Given the description of an element on the screen output the (x, y) to click on. 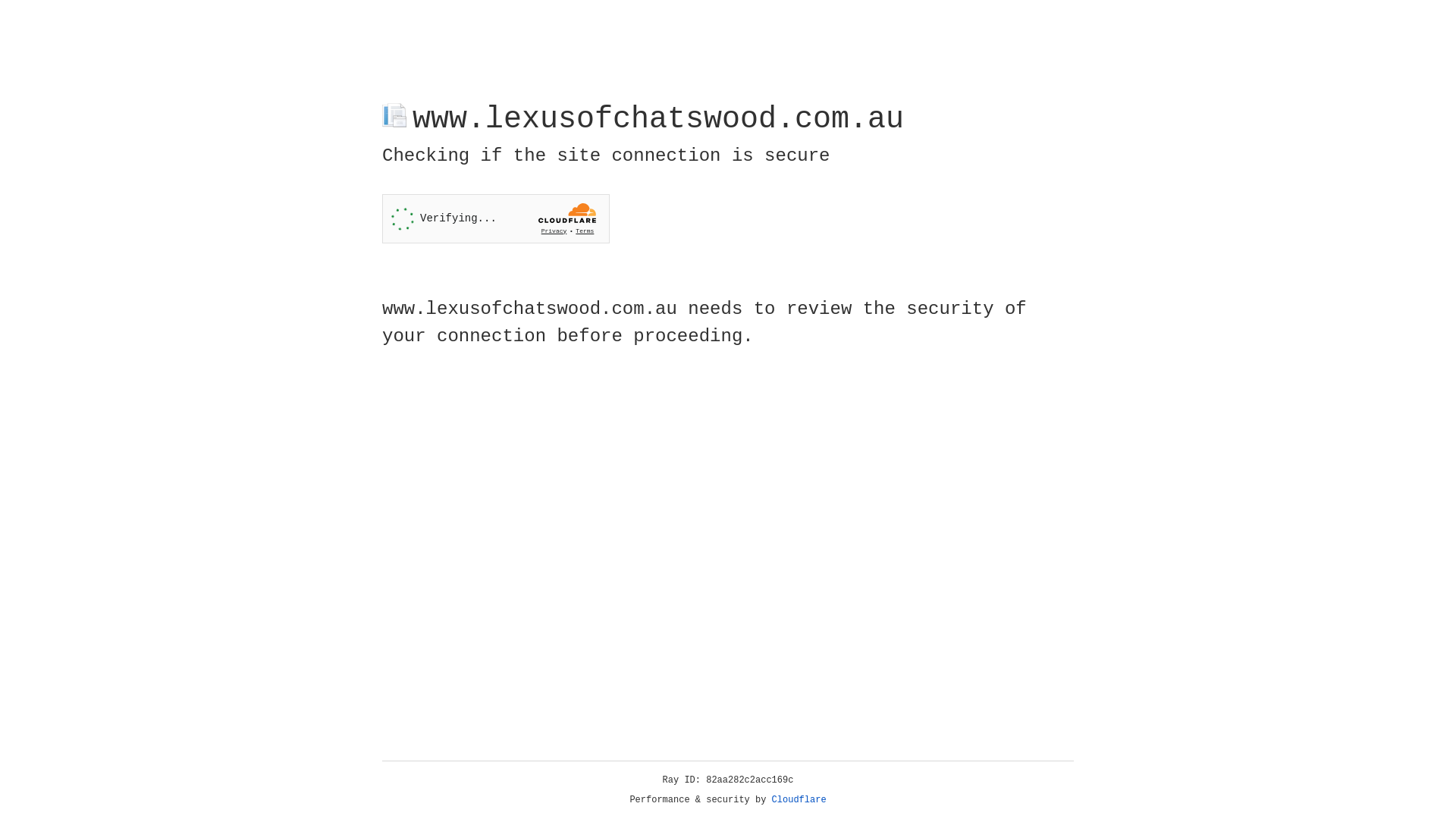
Cloudflare Element type: text (798, 799)
Widget containing a Cloudflare security challenge Element type: hover (495, 218)
